Given the description of an element on the screen output the (x, y) to click on. 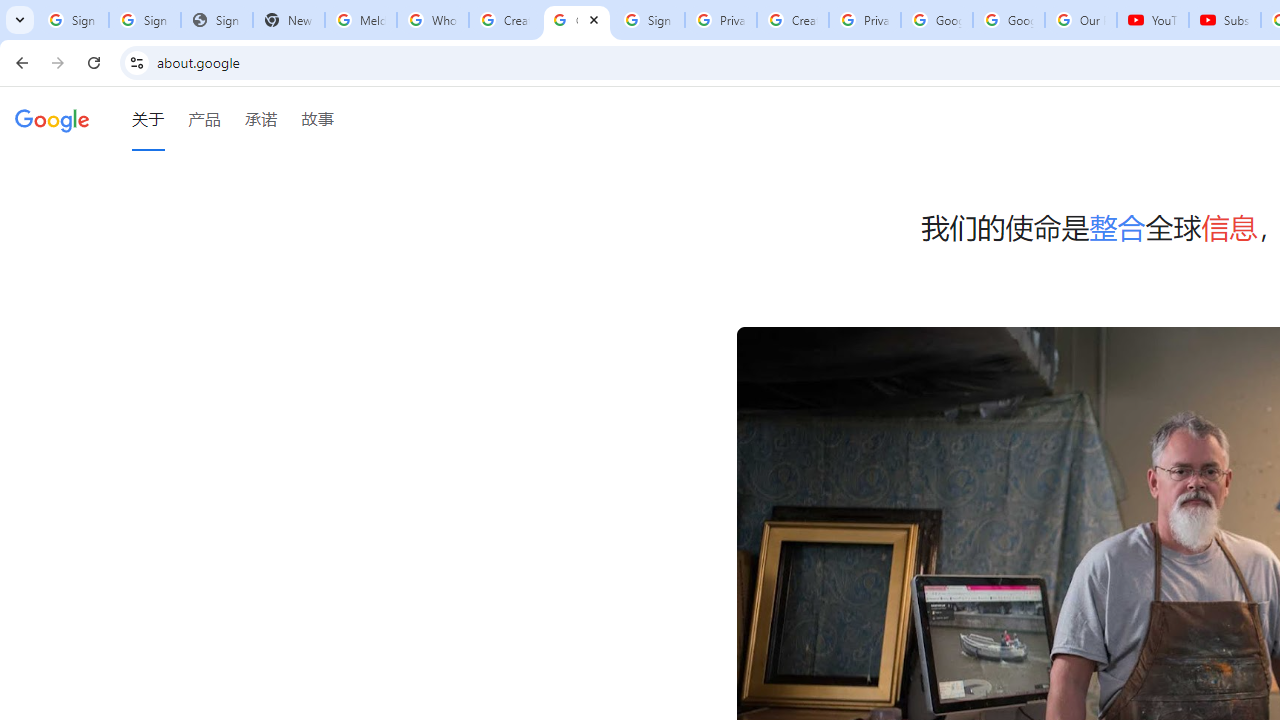
Google (52, 119)
Sign in - Google Accounts (648, 20)
Subscriptions - YouTube (1224, 20)
Sign in - Google Accounts (144, 20)
YouTube (1153, 20)
Sign In - USA TODAY (216, 20)
